Given the description of an element on the screen output the (x, y) to click on. 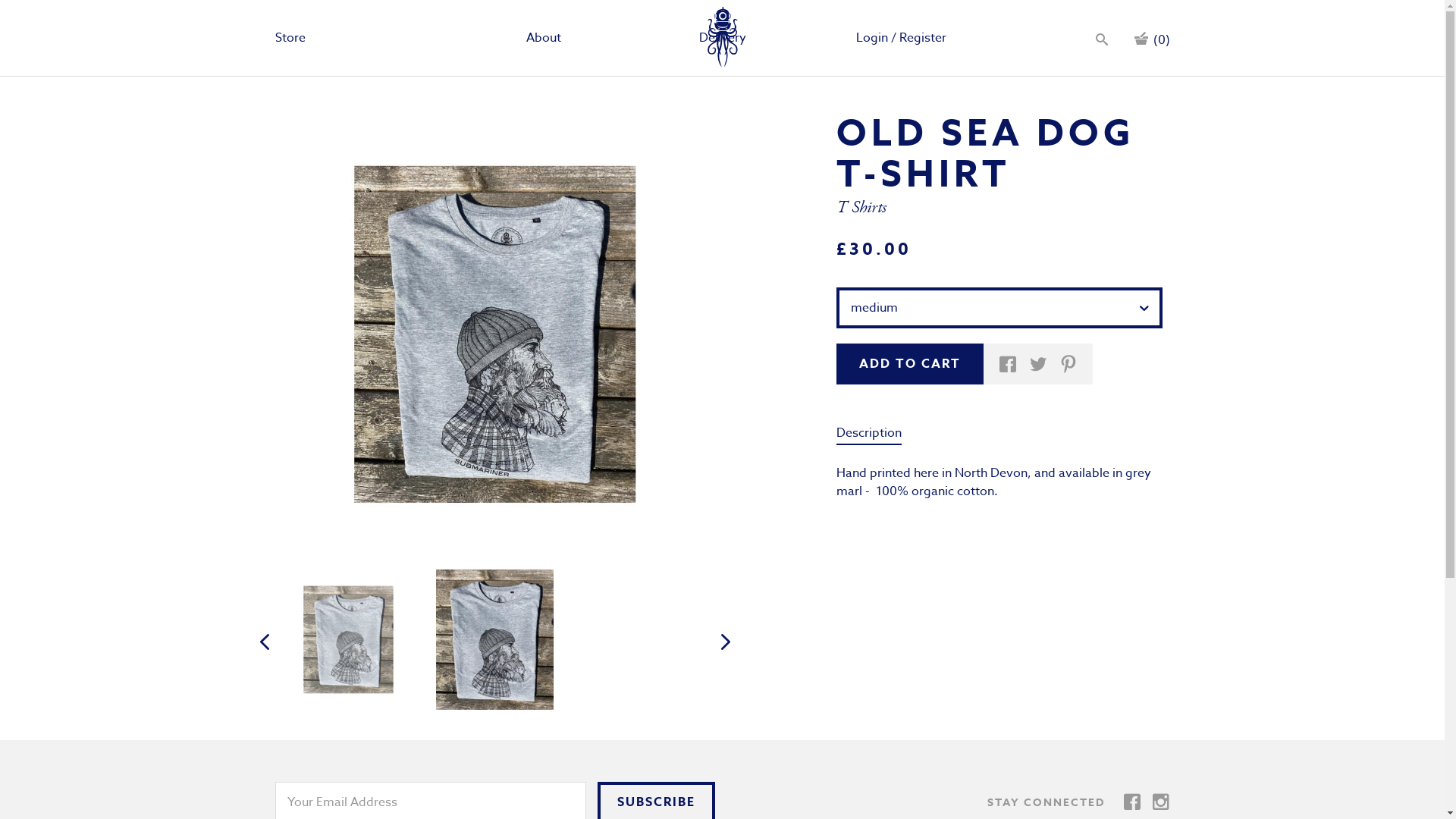
Next Element type: text (724, 641)
About Element type: text (543, 37)
Store Element type: text (289, 37)
Previous Element type: text (263, 641)
Description Element type: text (867, 433)
Delivery Element type: text (722, 37)
(0) Element type: text (1150, 37)
Login Element type: text (872, 37)
ADD TO CART Element type: text (908, 363)
Register Element type: text (922, 37)
